Given the description of an element on the screen output the (x, y) to click on. 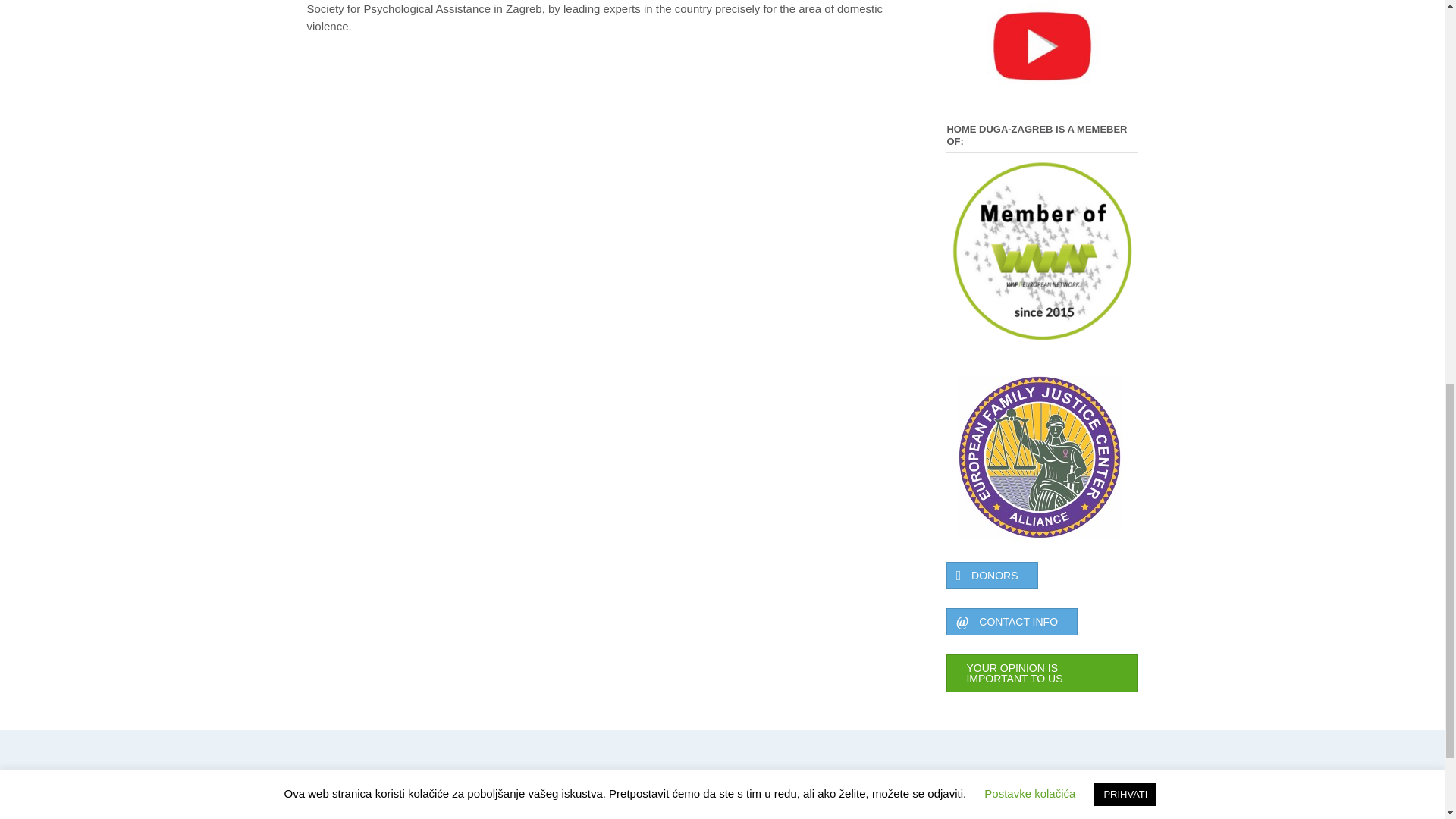
YOUR OPINION IS IMPORTANT TO US (1041, 673)
Cookie Policy (982, 783)
DONORS (991, 574)
CONTACT INFO (1011, 621)
